Given the description of an element on the screen output the (x, y) to click on. 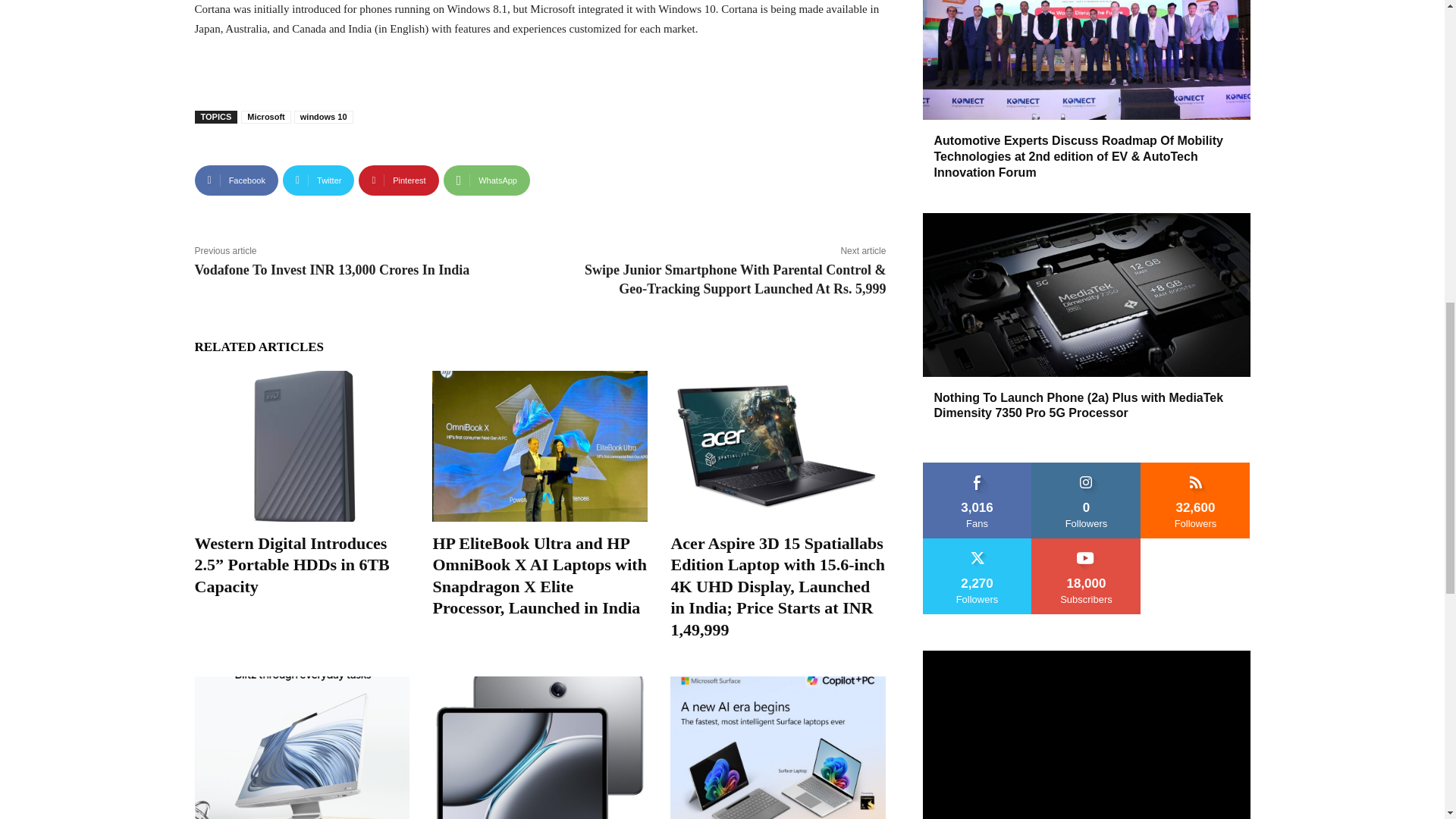
windows 10 (323, 116)
Facebook (235, 180)
Facebook (235, 180)
Twitter (318, 180)
WhatsApp (486, 180)
Pinterest (398, 180)
Pinterest (398, 180)
Vodafone To Invest INR 13,000 Crores In India (330, 269)
WhatsApp (486, 180)
Microsoft (266, 116)
Twitter (318, 180)
